Given the description of an element on the screen output the (x, y) to click on. 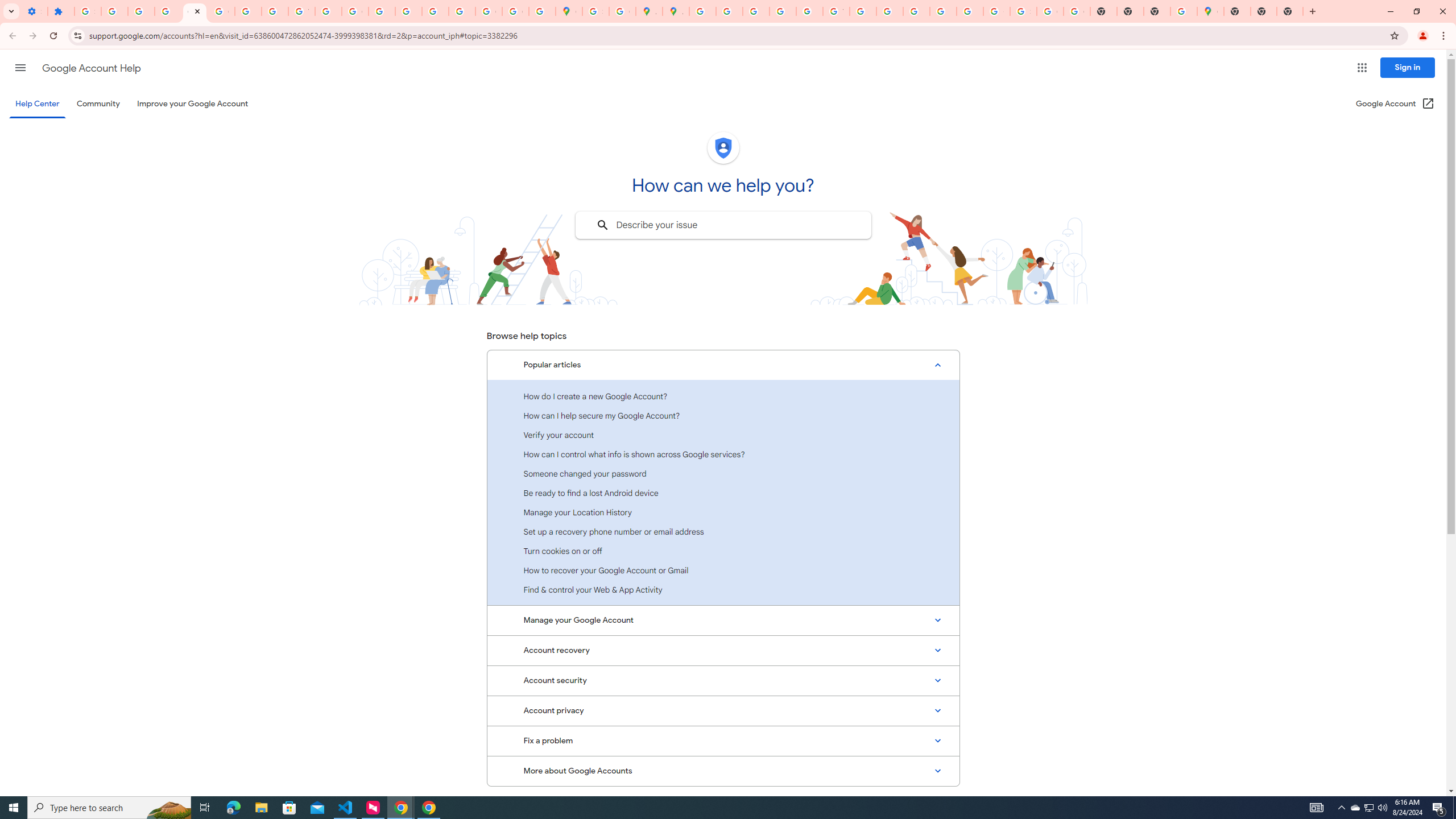
Describe your issue to find information that might help you. (722, 225)
Find & control your Web & App Activity (722, 589)
Privacy Help Center - Policies Help (382, 11)
Privacy Help Center - Policies Help (729, 11)
Set up a recovery phone number or email address (722, 531)
Turn cookies on or off (722, 551)
Privacy Help Center - Policies Help (756, 11)
https://scholar.google.com/ (328, 11)
